Given the description of an element on the screen output the (x, y) to click on. 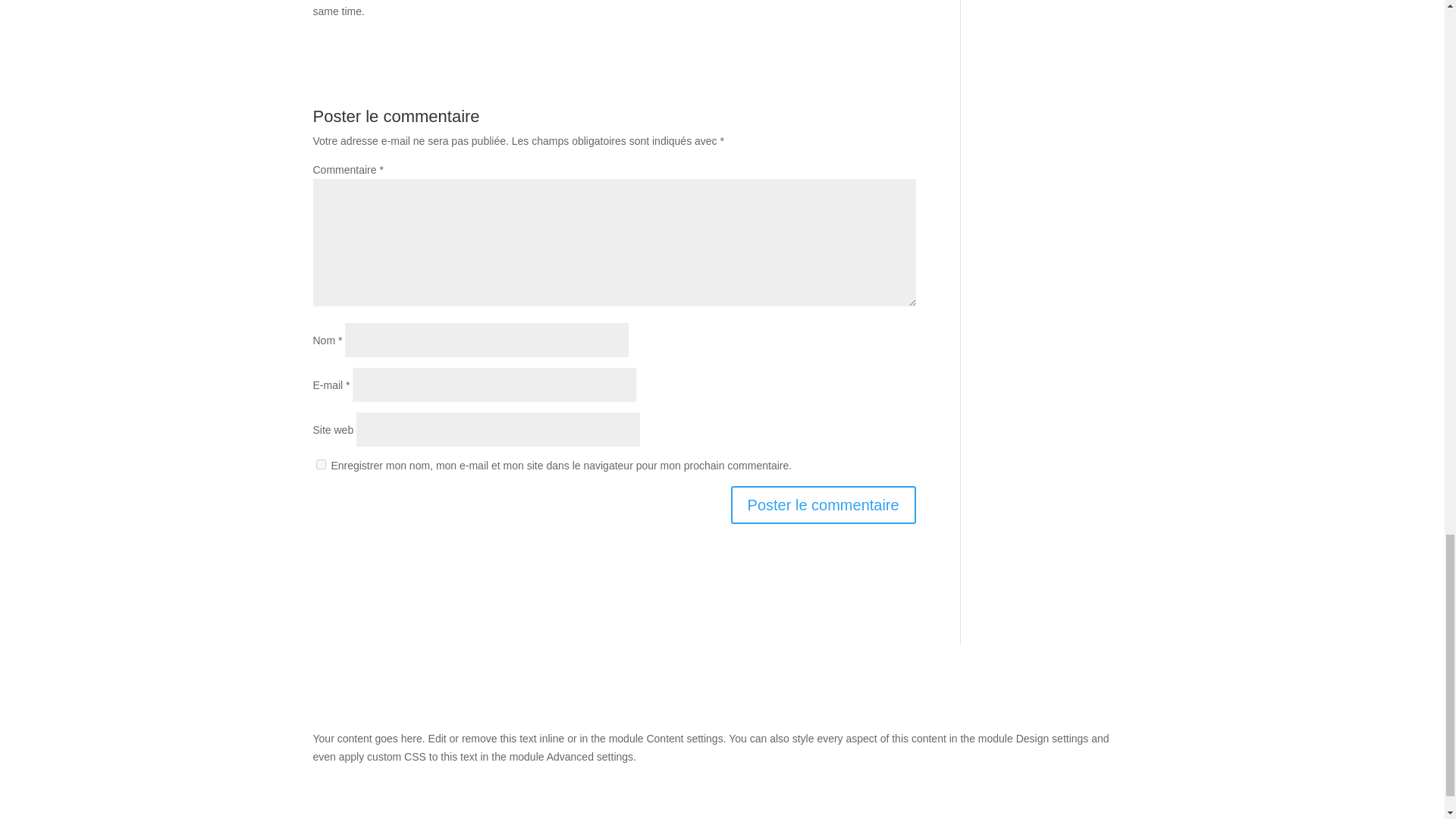
yes (319, 464)
Poster le commentaire (822, 505)
Poster le commentaire (822, 505)
